Given the description of an element on the screen output the (x, y) to click on. 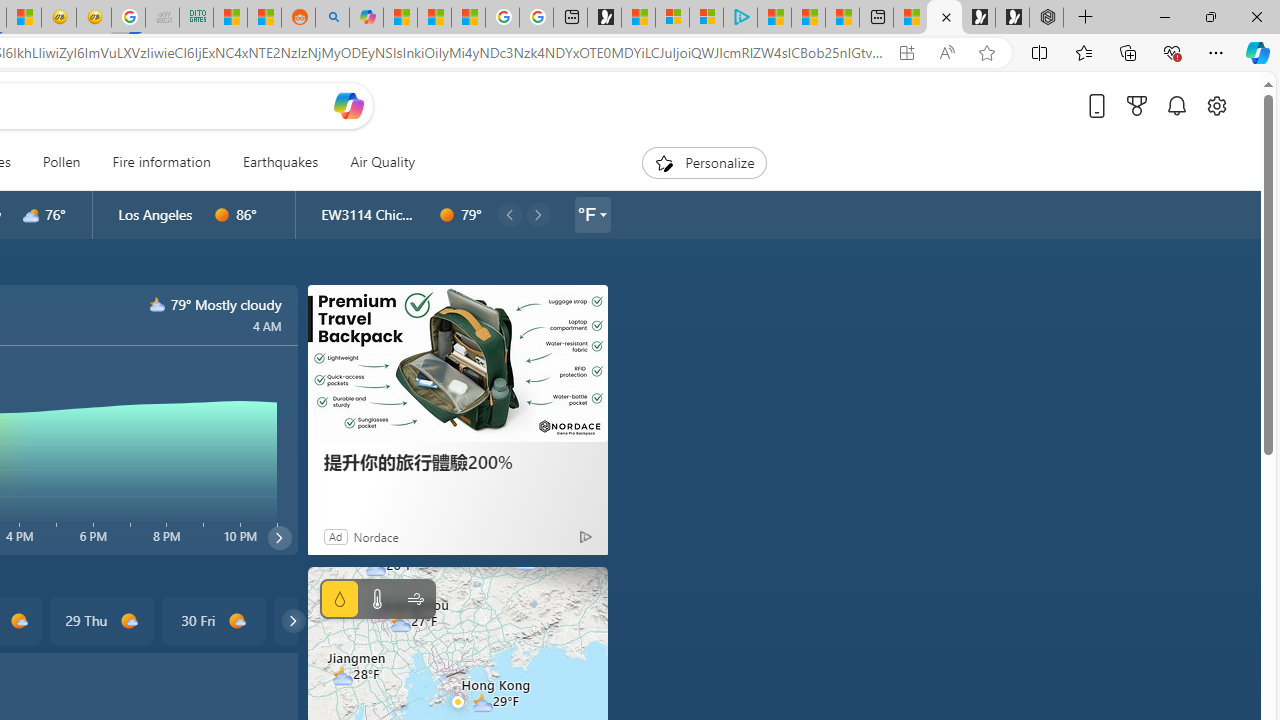
common/carouselChevron (293, 620)
30 Fri d1000 (213, 620)
d1000 (235, 621)
Air Quality (375, 162)
App available. Install Microsoft Start Weather (906, 53)
